Given the description of an element on the screen output the (x, y) to click on. 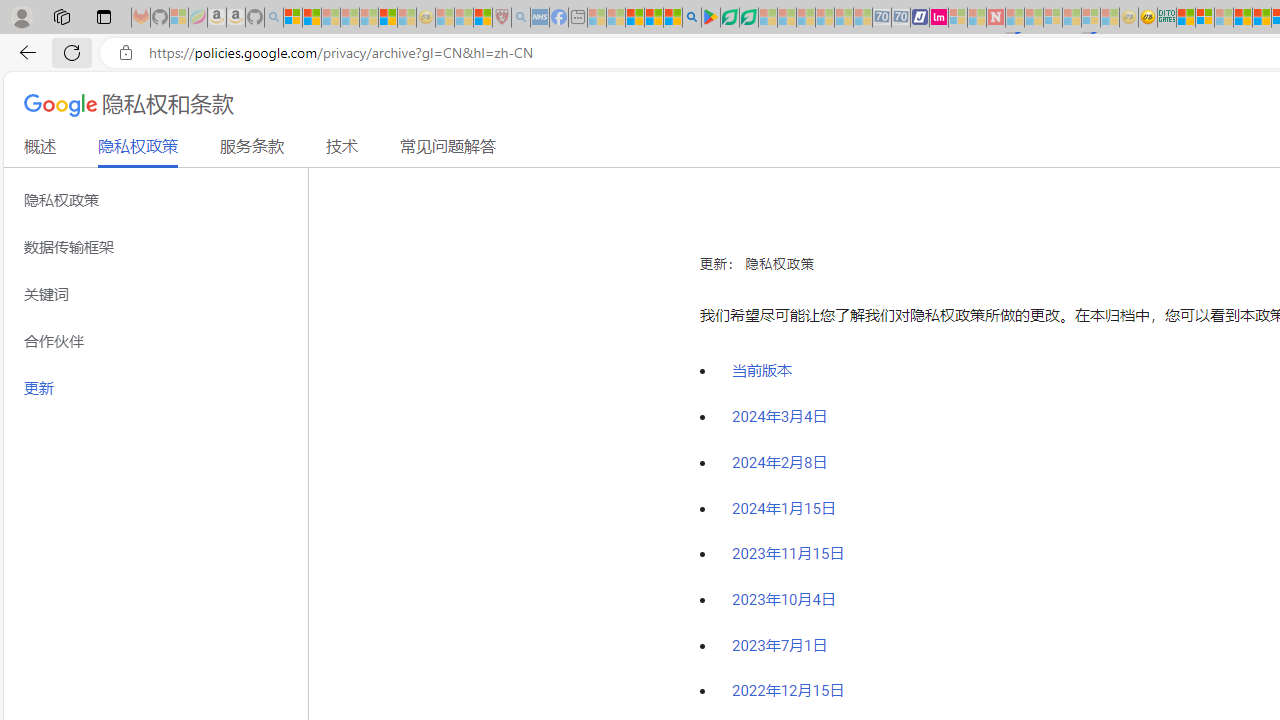
Bluey: Let's Play! - Apps on Google Play (710, 17)
Pets - MSN (654, 17)
